Given the description of an element on the screen output the (x, y) to click on. 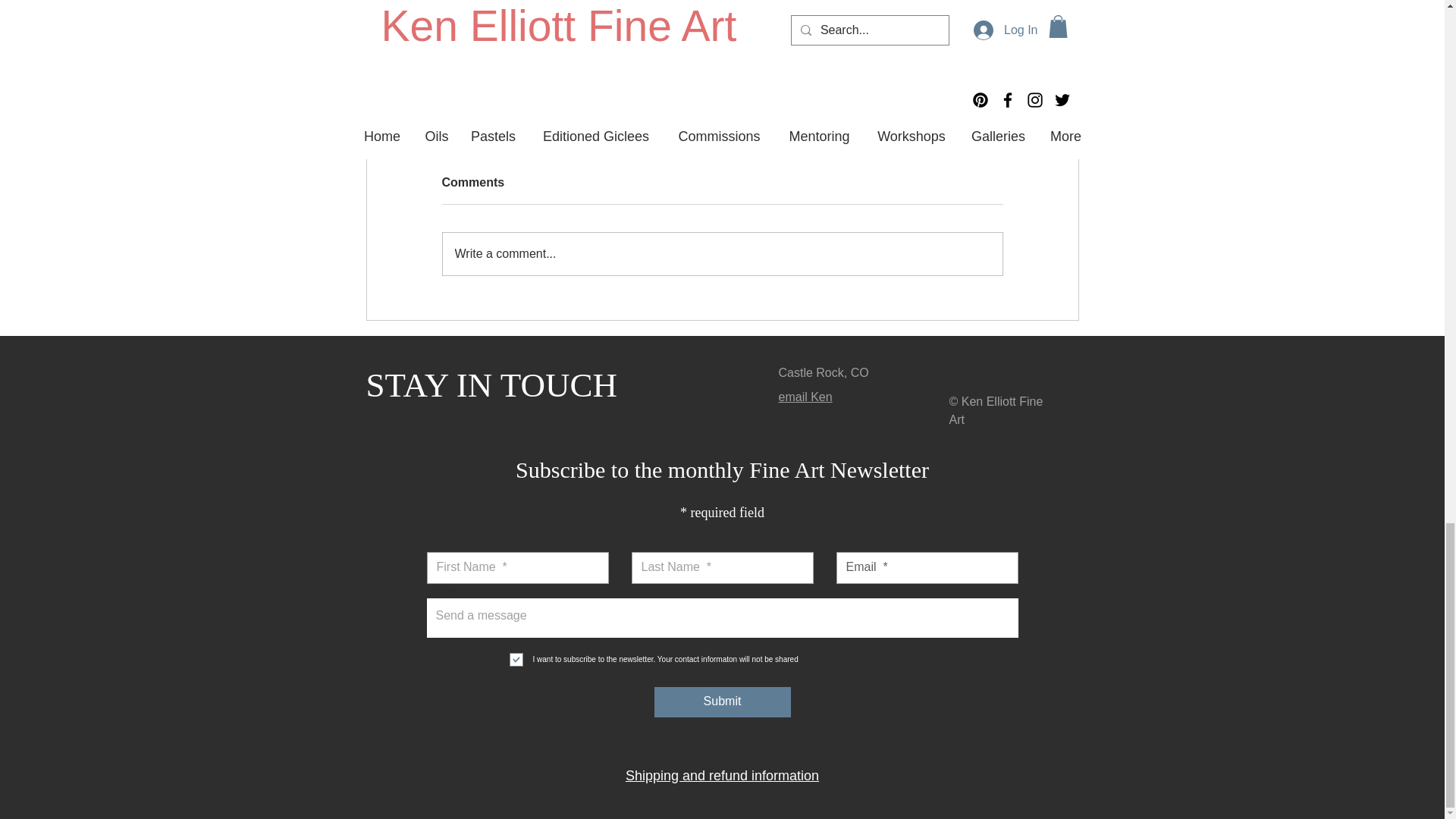
Post not marked as liked (558, 104)
0 (435, 104)
From the July 26-28 Making it Fine Art Workshop (476, 51)
